Given the description of an element on the screen output the (x, y) to click on. 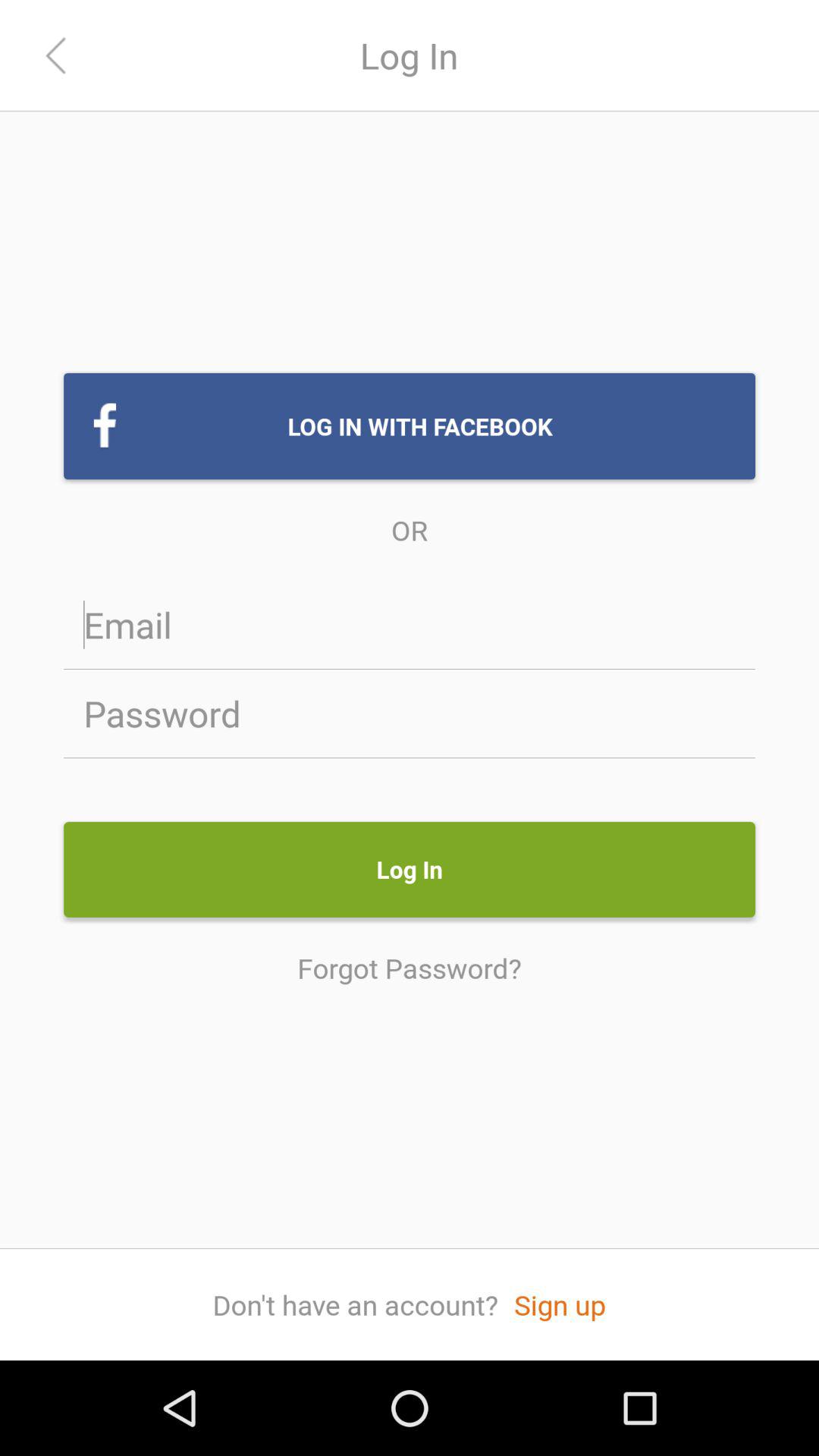
go back (55, 55)
